Given the description of an element on the screen output the (x, y) to click on. 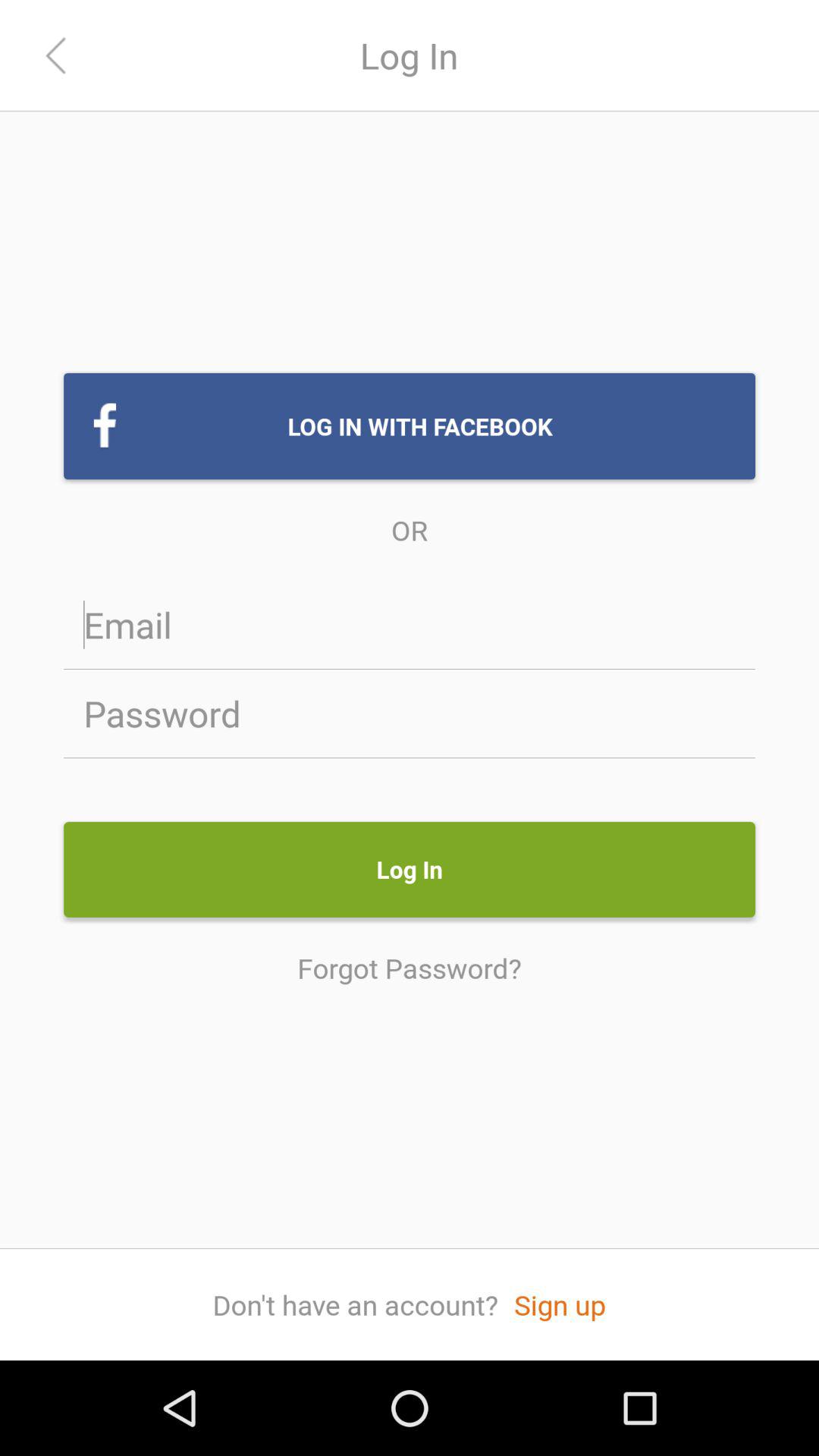
go back (55, 55)
